Given the description of an element on the screen output the (x, y) to click on. 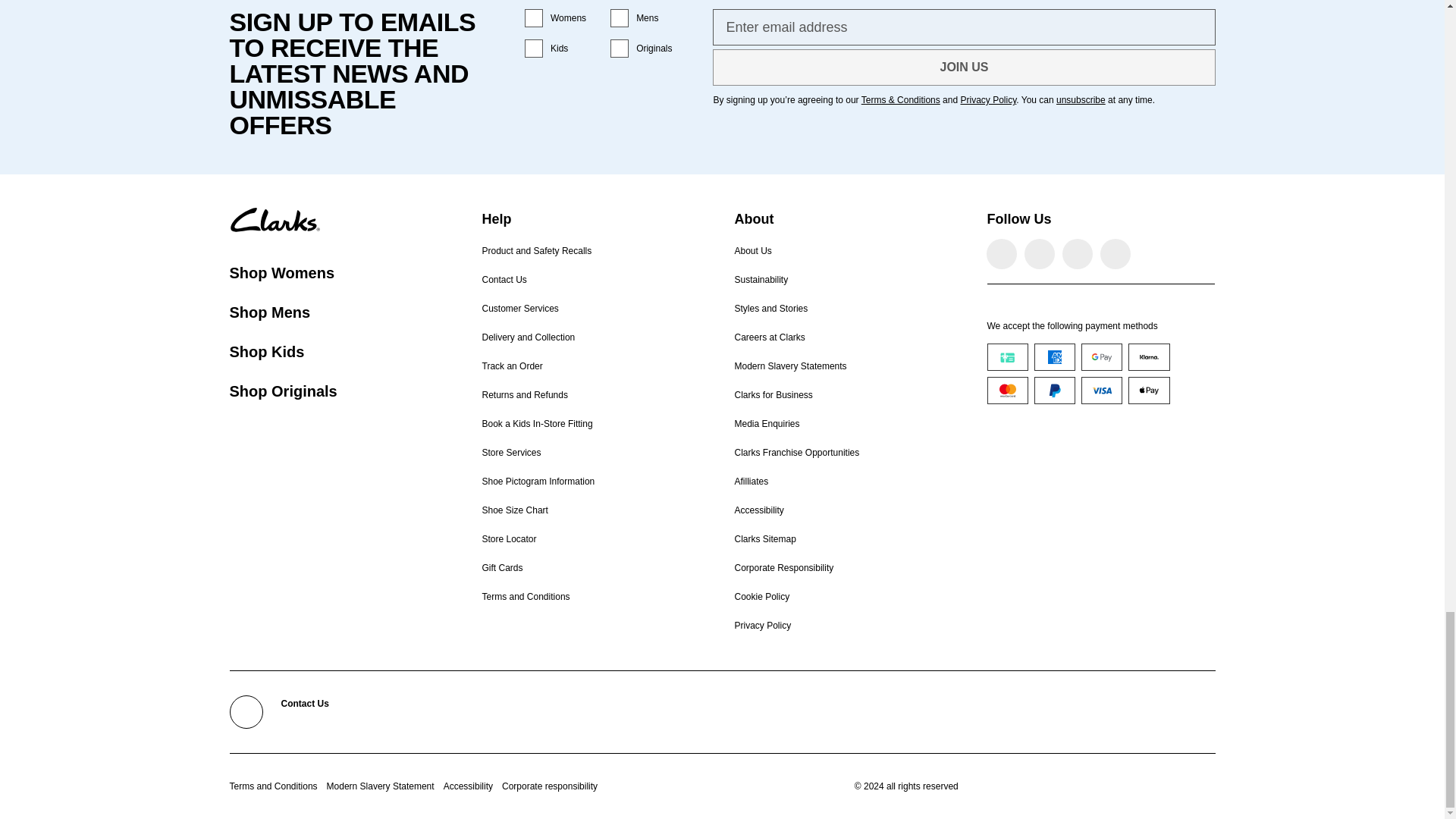
kids (533, 48)
originals (619, 48)
mens (619, 18)
womens (533, 18)
